Given the description of an element on the screen output the (x, y) to click on. 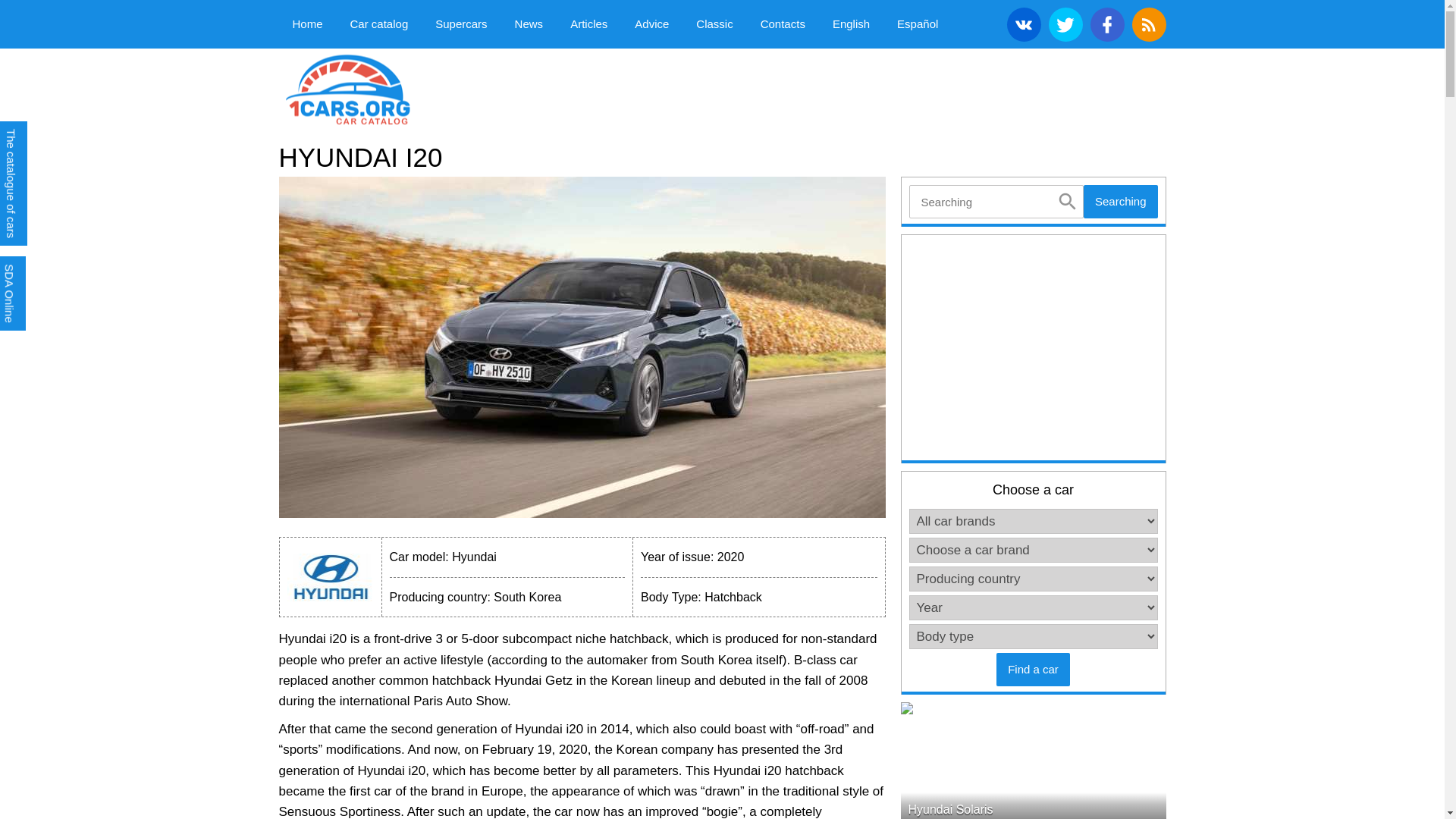
Car catalog (379, 24)
1cars.org (404, 87)
Classic (713, 24)
English (850, 24)
Advice (651, 24)
Contacts (782, 24)
Articles (588, 24)
Home (307, 24)
Supercars (461, 24)
News (528, 24)
